Given the description of an element on the screen output the (x, y) to click on. 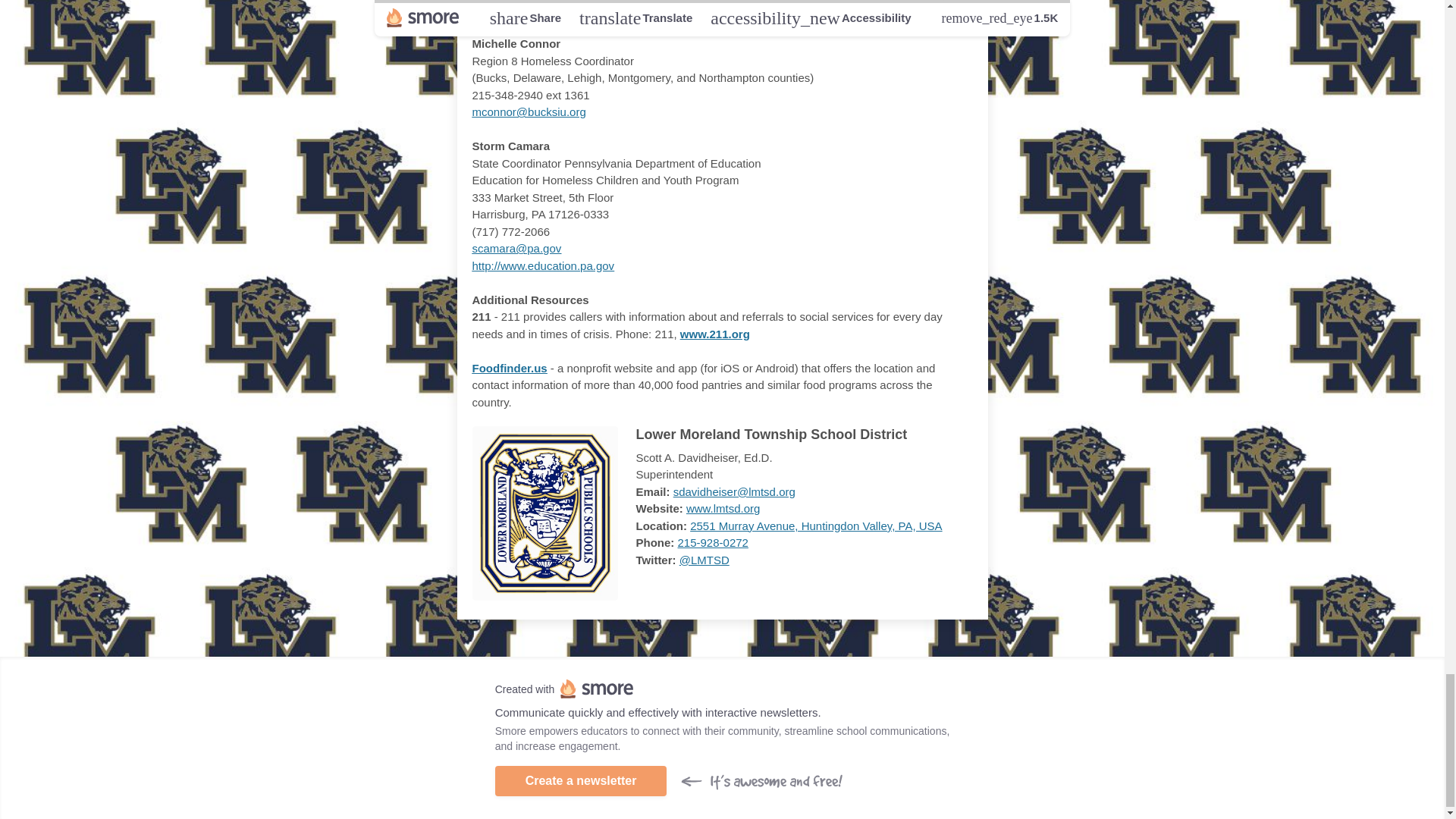
Foodfinder.us (509, 367)
www.lmtsd.org (722, 508)
215-928-0272 (713, 542)
www.211.org (714, 333)
2551 Murray Avenue, Huntingdon Valley, PA, USA (816, 525)
Create a newsletter (580, 780)
